Given the description of an element on the screen output the (x, y) to click on. 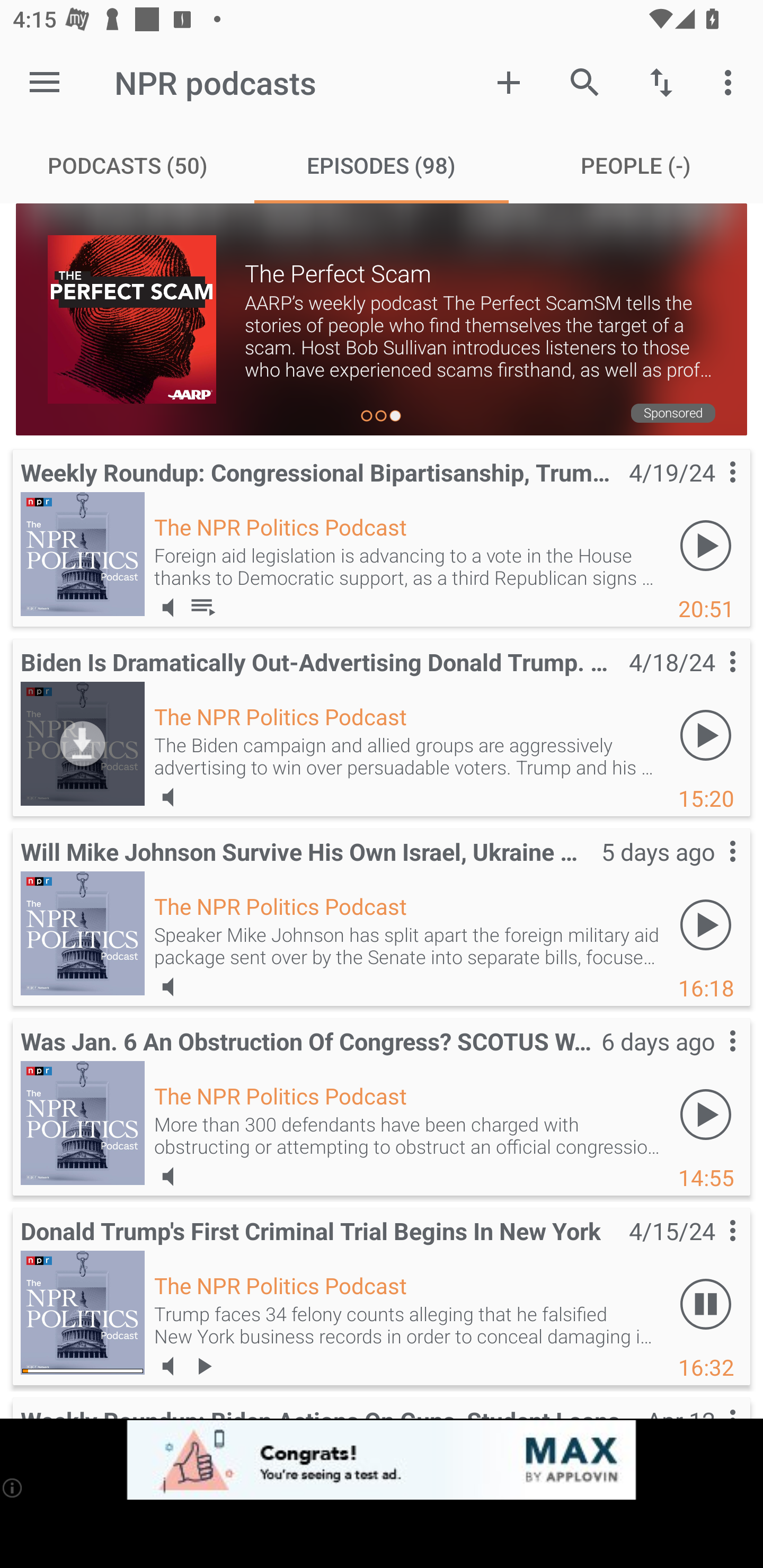
Open navigation sidebar (44, 82)
Create a 'Search Based Podcast' (508, 81)
Search (585, 81)
Sort (661, 81)
More options (731, 81)
Podcasts (50) PODCASTS (50) (127, 165)
People (-) PEOPLE (-) (635, 165)
Contextual menu (712, 489)
Play (705, 545)
Contextual menu (712, 679)
Play (705, 735)
Contextual menu (712, 869)
Play (705, 924)
Contextual menu (712, 1059)
Play (705, 1113)
Contextual menu (712, 1248)
Pause (705, 1303)
app-monetization (381, 1459)
(i) (11, 1487)
